Given the description of an element on the screen output the (x, y) to click on. 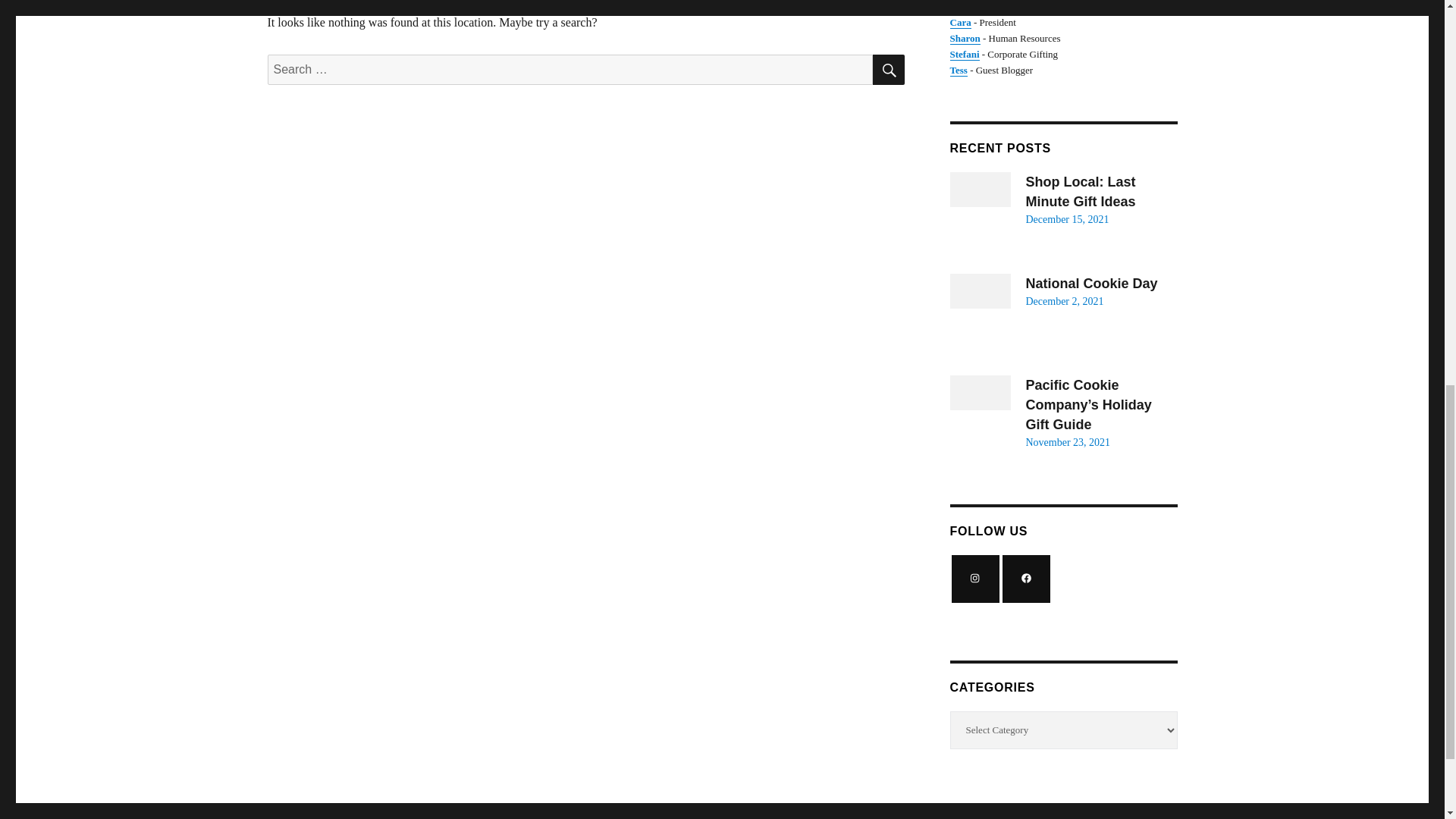
Shop Local: Last Minute Gift Ideas (1080, 191)
Tess (957, 70)
Larry (961, 6)
Cara (960, 21)
Sharon (964, 38)
Stefani (963, 53)
November 23, 2021 (1067, 441)
SEARCH (888, 69)
National Cookie Day (1091, 283)
December 2, 2021 (1064, 301)
December 15, 2021 (1066, 219)
